Given the description of an element on the screen output the (x, y) to click on. 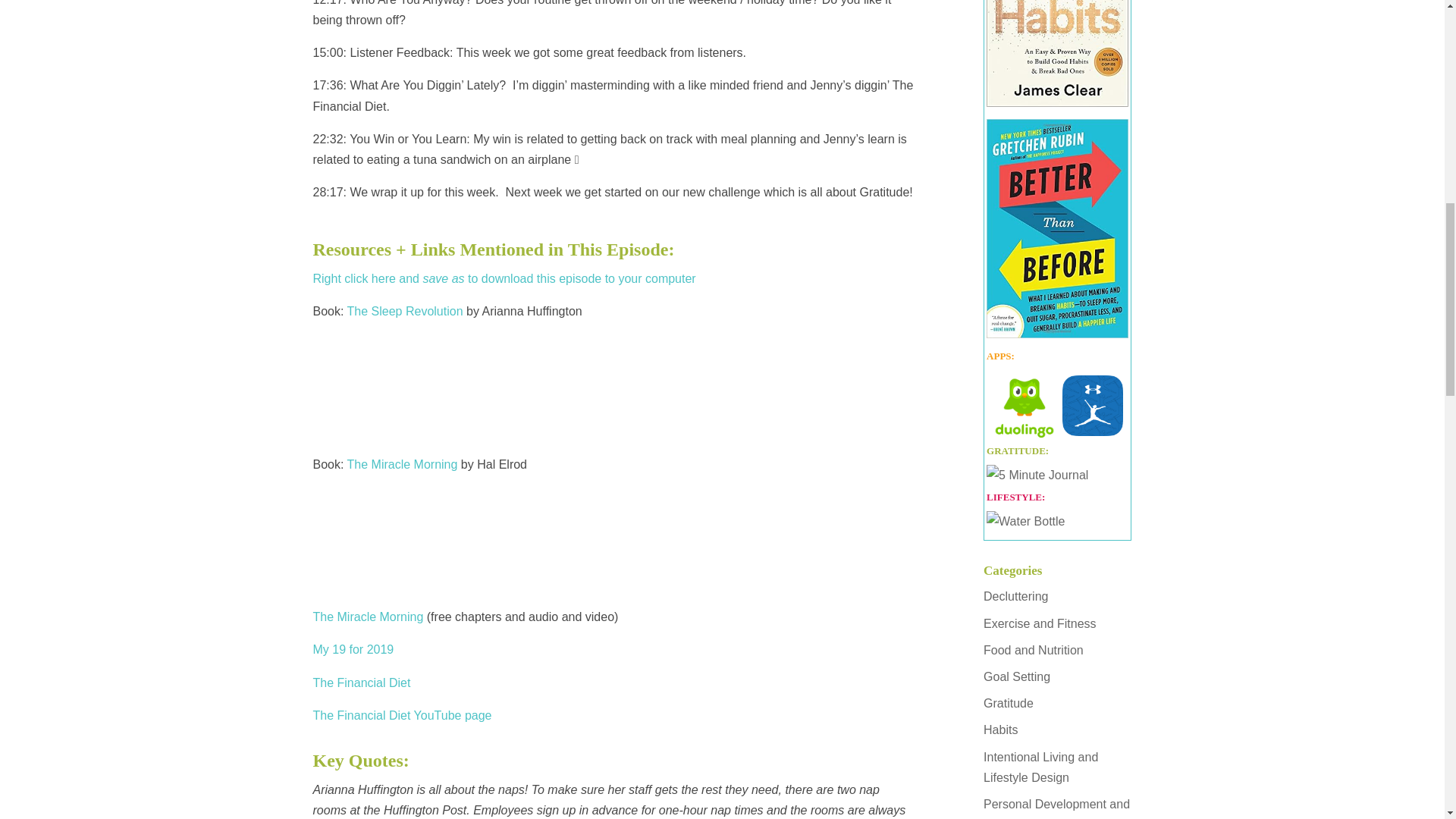
My 19 for 2019 (353, 649)
Right click here and  (367, 278)
 to download this episode to your computer (579, 278)
The Miracle Morning (368, 616)
The Financial Diet YouTube page (402, 715)
The Miracle Morning (402, 463)
The Financial Diet (361, 682)
The Sleep Revolution (405, 310)
save as (443, 278)
